Given the description of an element on the screen output the (x, y) to click on. 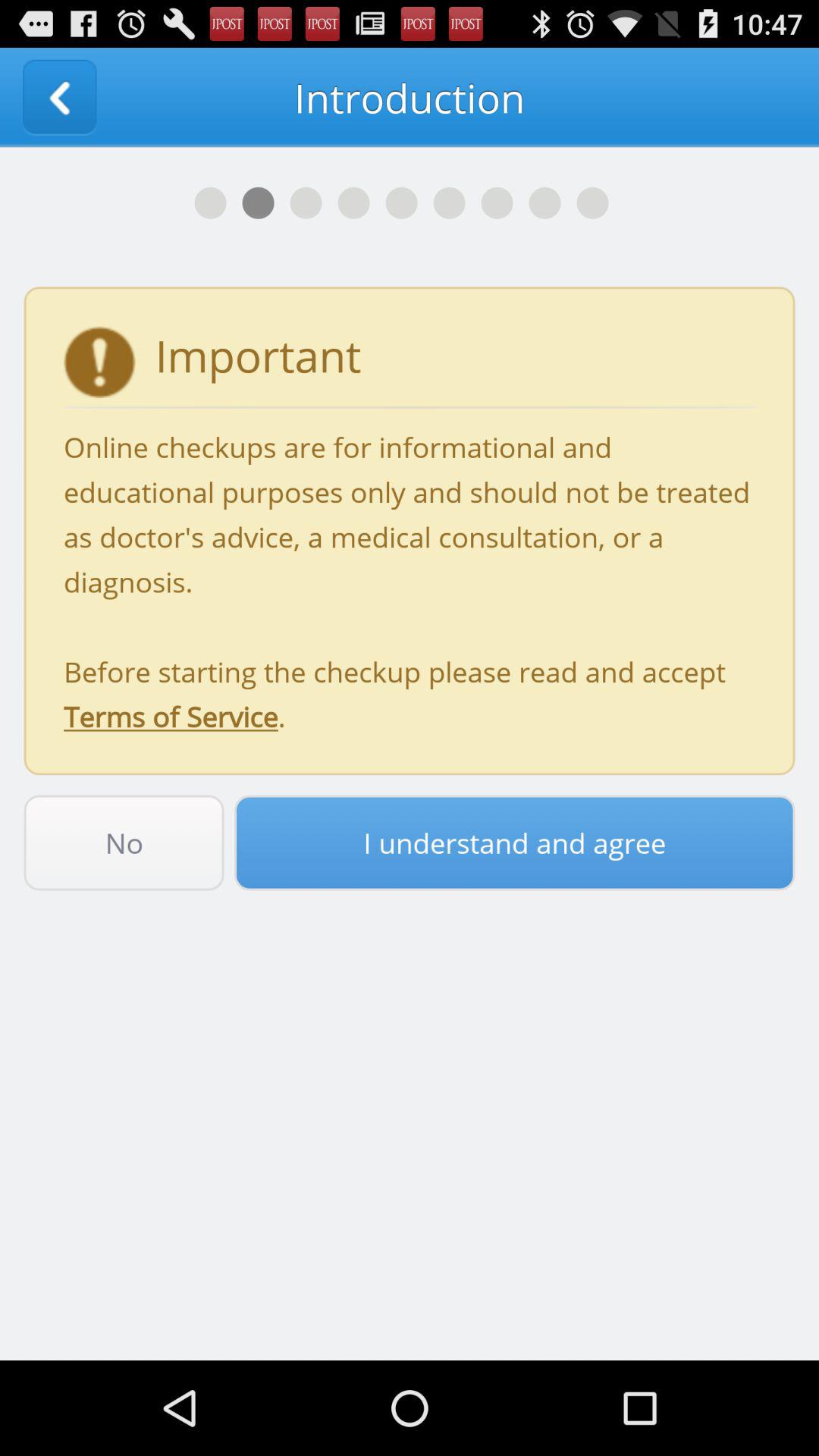
jump until the no button (123, 842)
